Given the description of an element on the screen output the (x, y) to click on. 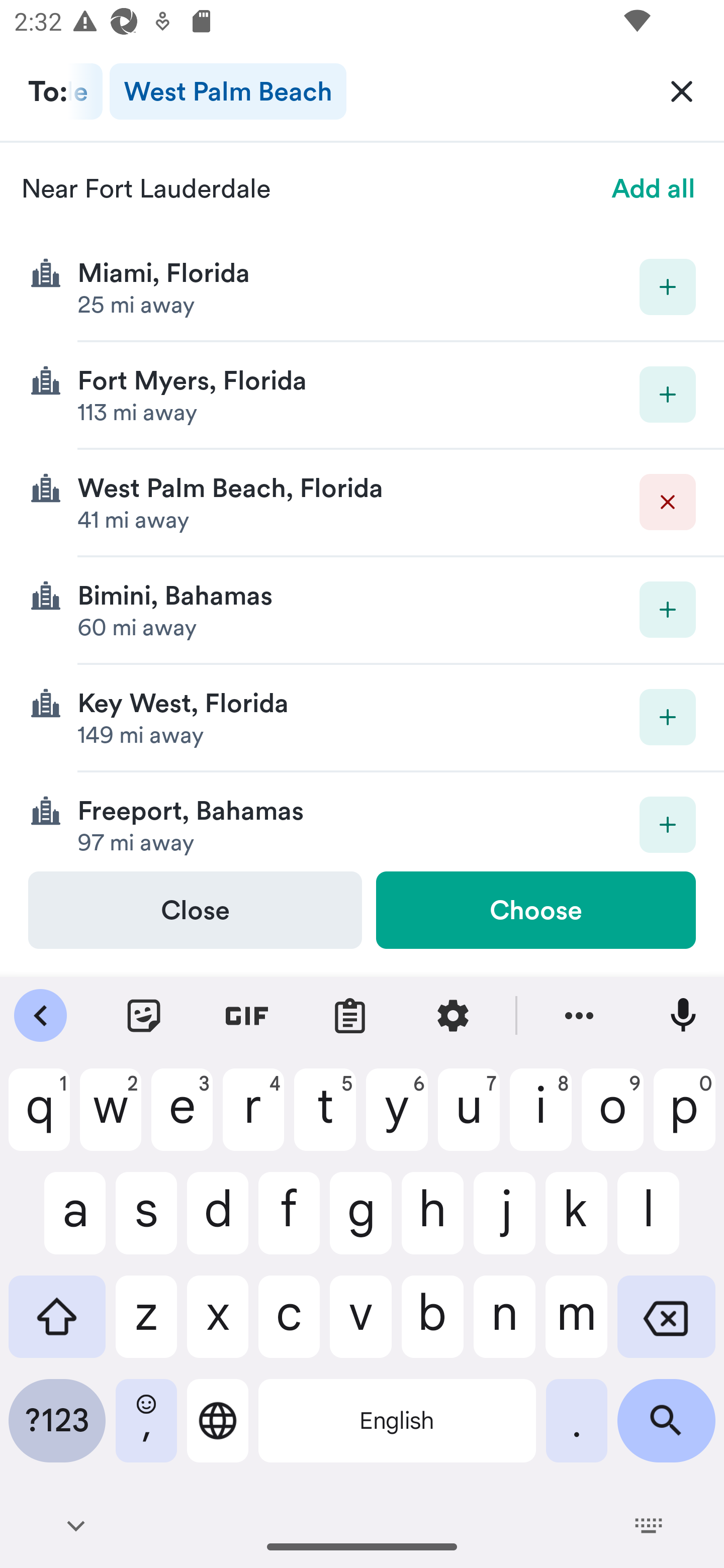
Clear All (681, 90)
West Palm Beach (227, 91)
Add all (653, 187)
Add destination Miami, Florida 25 mi away (362, 287)
Add destination (667, 286)
Add destination Fort Myers, Florida 113 mi away (362, 395)
Add destination (667, 394)
Delete West Palm Beach, Florida 41 mi away (362, 503)
Delete (667, 501)
Add destination Bimini, Bahamas 60 mi away (362, 610)
Add destination (667, 609)
Add destination Key West, Florida 149 mi away (362, 717)
Add destination (667, 716)
Add destination Freeport, Bahamas 97 mi away (362, 821)
Add destination (667, 824)
Close (195, 909)
Choose (535, 909)
